Given the description of an element on the screen output the (x, y) to click on. 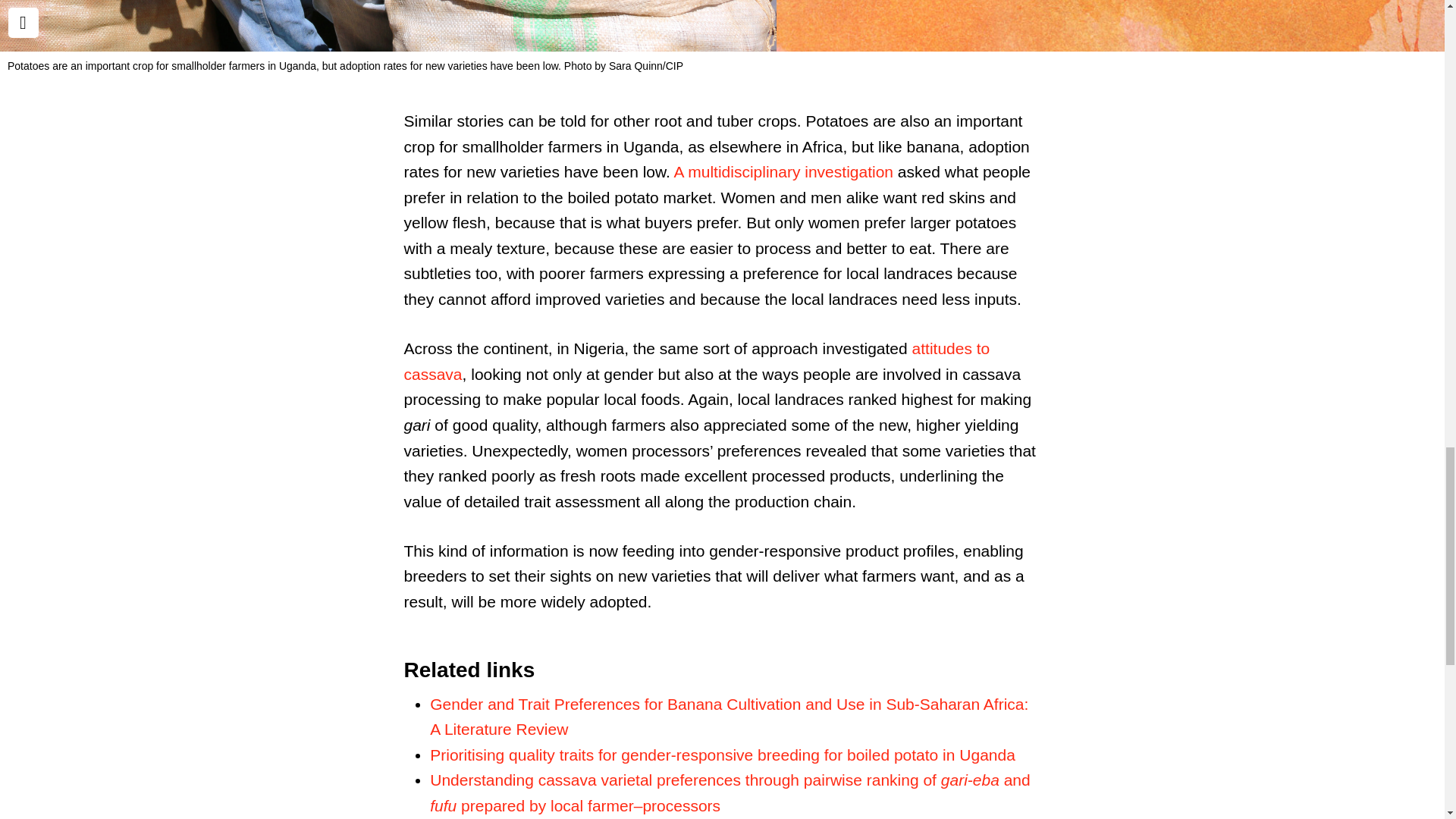
A multidisciplinary investigation (783, 171)
attitudes to cassava (696, 361)
